Given the description of an element on the screen output the (x, y) to click on. 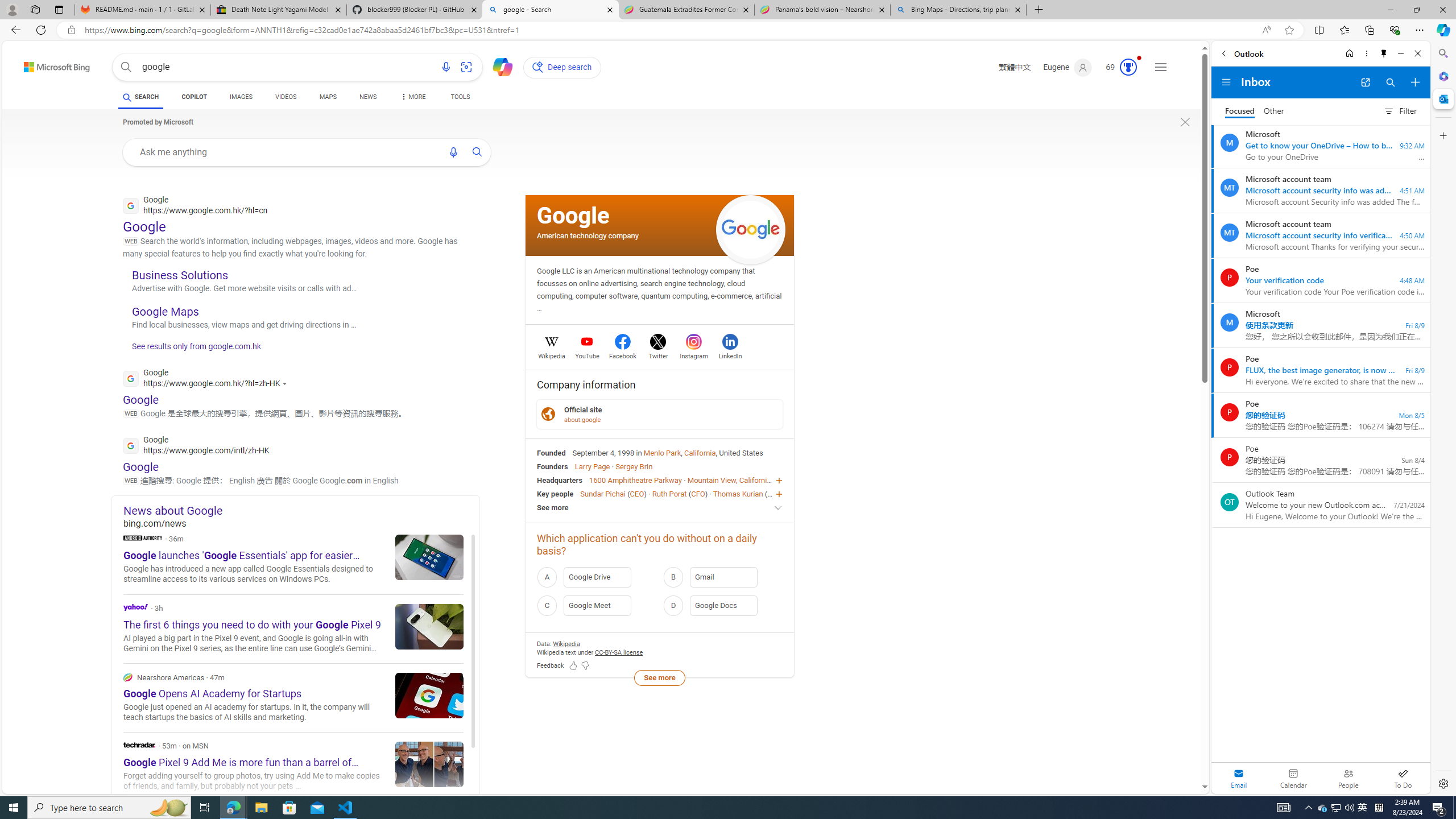
California (700, 452)
Side bar (1443, 418)
Chat (497, 65)
Read aloud this page (Ctrl+Shift+U) (1266, 29)
See more (659, 677)
CC-BY-SA license (619, 652)
C Google Meet (596, 605)
Focused (1239, 110)
Ruth Porat (669, 492)
Tab actions menu (58, 9)
bing.com/news (301, 522)
News about Google (301, 510)
Minimize (1401, 53)
AutomationID: uaseabtn (478, 151)
Split screen (1318, 29)
